Given the description of an element on the screen output the (x, y) to click on. 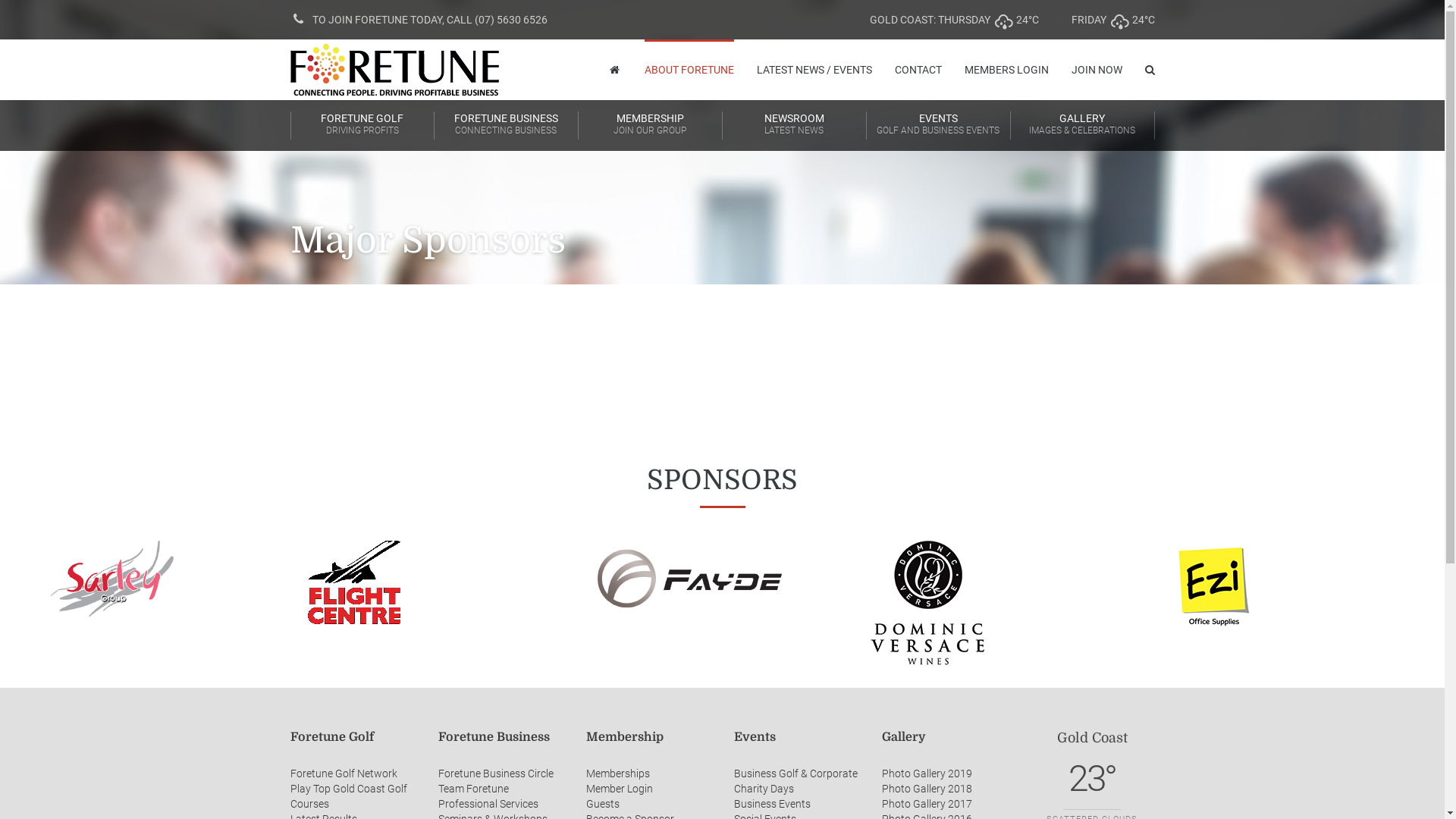
Memberships Element type: text (617, 773)
CONTACT Element type: text (917, 69)
Business Events Element type: text (772, 803)
JOIN NOW Element type: text (1095, 69)
FORETUNE GOLF
DRIVING PROFITS Element type: text (361, 125)
MEMBERSHIP
JOIN OUR GROUP Element type: text (649, 125)
Professional Services Element type: text (488, 803)
Team Foretune Element type: text (473, 788)
Play Top Gold Coast Golf Courses Element type: text (347, 795)
Photo Gallery 2019 Element type: text (926, 773)
Foretune Golf Network Element type: text (342, 773)
Business Golf & Corporate Charity Days Element type: text (795, 780)
Photo Gallery 2018 Element type: text (926, 788)
Guests Element type: text (601, 803)
EVENTS
GOLF AND BUSINESS EVENTS Element type: text (938, 125)
Photo Gallery 2017 Element type: text (926, 803)
GALLERY
IMAGES & CELEBRATIONS Element type: text (1082, 125)
Member Login Element type: text (618, 788)
Foretune Business Circle Element type: text (495, 773)
FORETUNE BUSINESS
CONNECTING BUSINESS Element type: text (505, 125)
MEMBERS LOGIN Element type: text (1006, 69)
ABOUT FORETUNE Element type: text (689, 69)
LATEST NEWS / EVENTS Element type: text (814, 69)
NEWSROOM
LATEST NEWS Element type: text (793, 125)
